Given the description of an element on the screen output the (x, y) to click on. 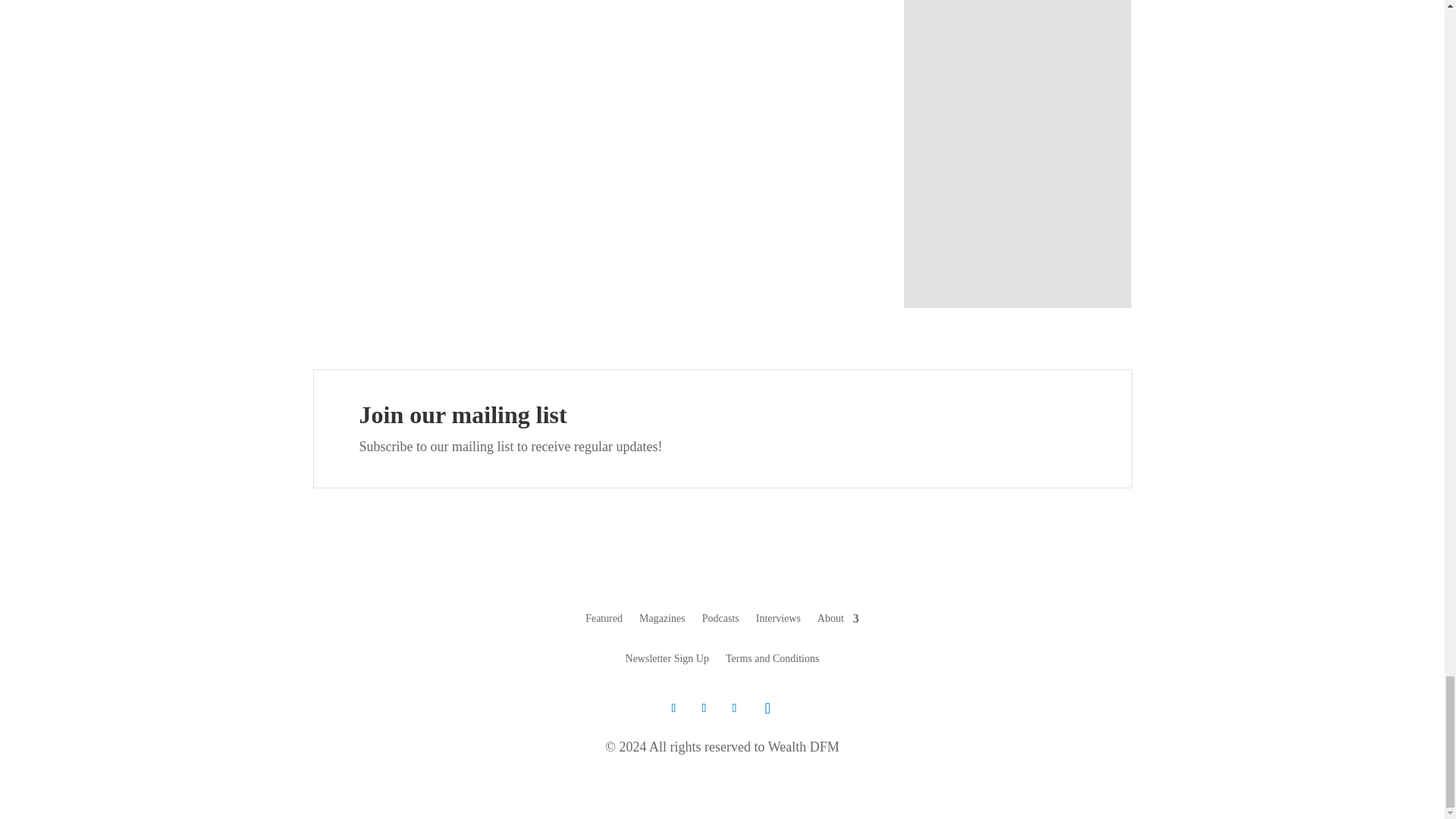
Follow on Instagram (767, 707)
Newsletter Sign Up (667, 661)
Terms and Conditions (771, 661)
Follow on Facebook (703, 708)
Follow on LinkedIn (733, 708)
Follow on X (673, 708)
